Given the description of an element on the screen output the (x, y) to click on. 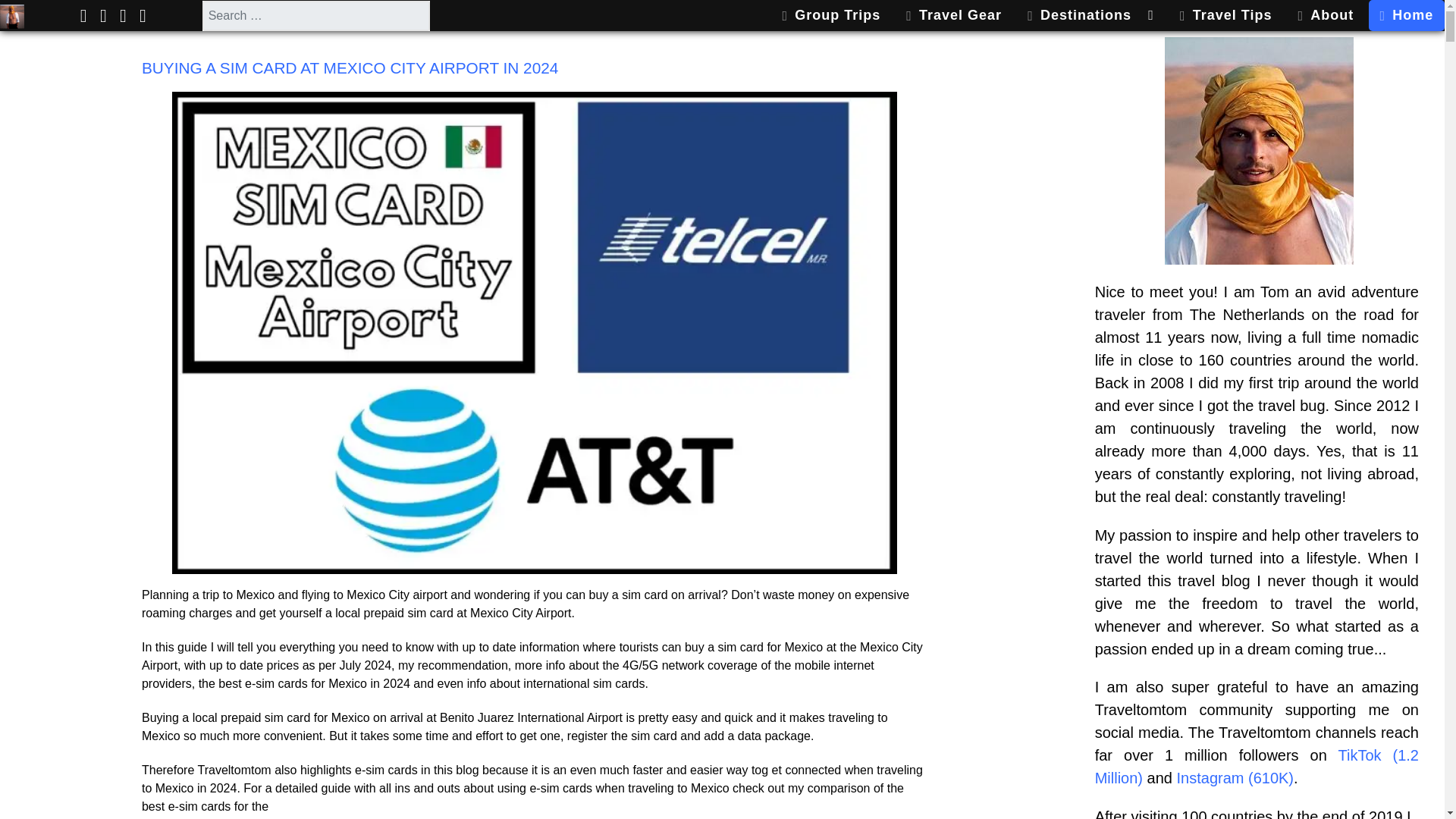
Travel Gear (953, 15)
take me home (12, 14)
Destinations (1090, 15)
Destinations (1090, 15)
Group Trips (831, 15)
Travel Gear (953, 15)
Group Trips (831, 15)
